Given the description of an element on the screen output the (x, y) to click on. 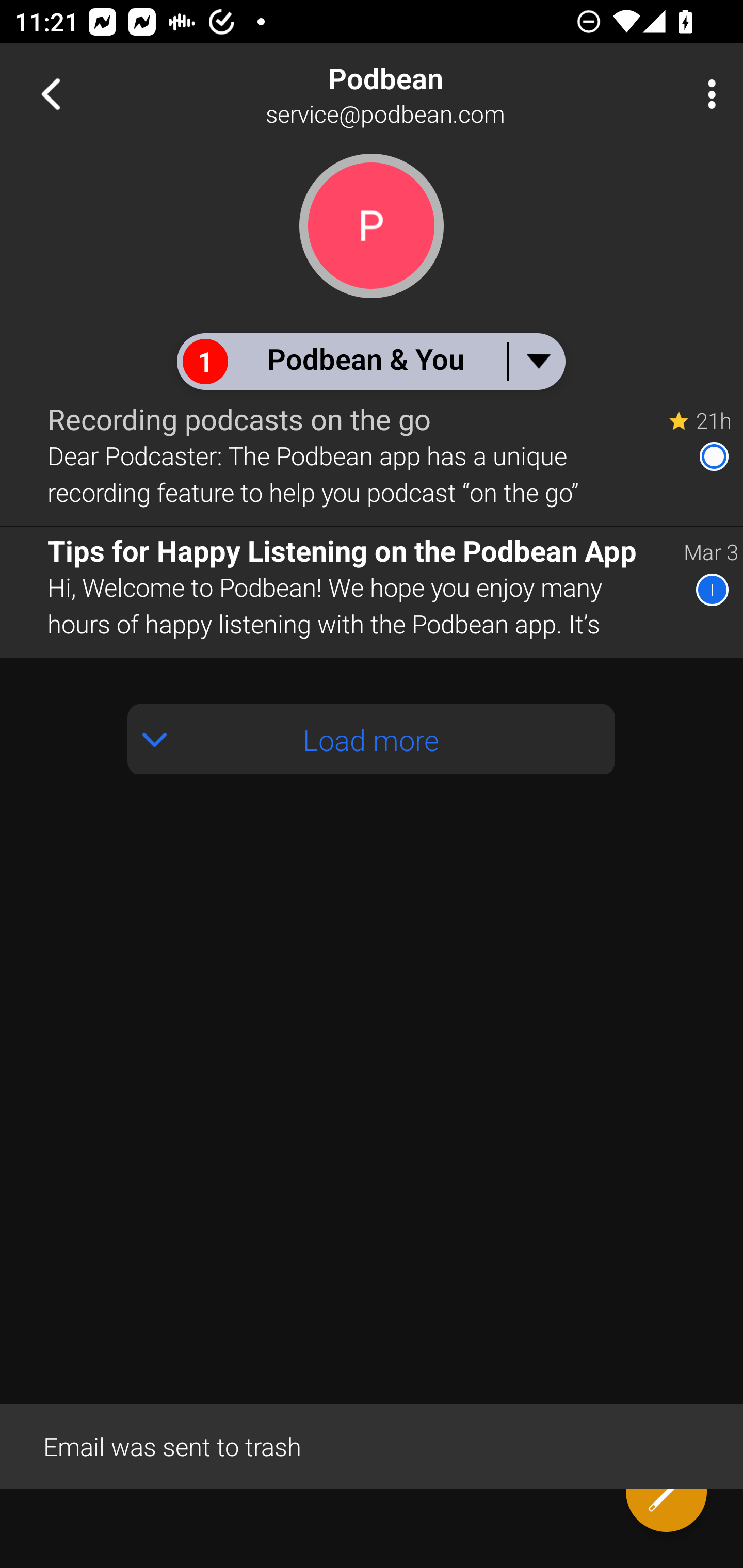
Navigate up (50, 93)
Podbean service@podbean.com (436, 93)
More Options (706, 93)
1 Podbean & You (370, 361)
Load more (371, 739)
Email was sent to trash (371, 1445)
